Given the description of an element on the screen output the (x, y) to click on. 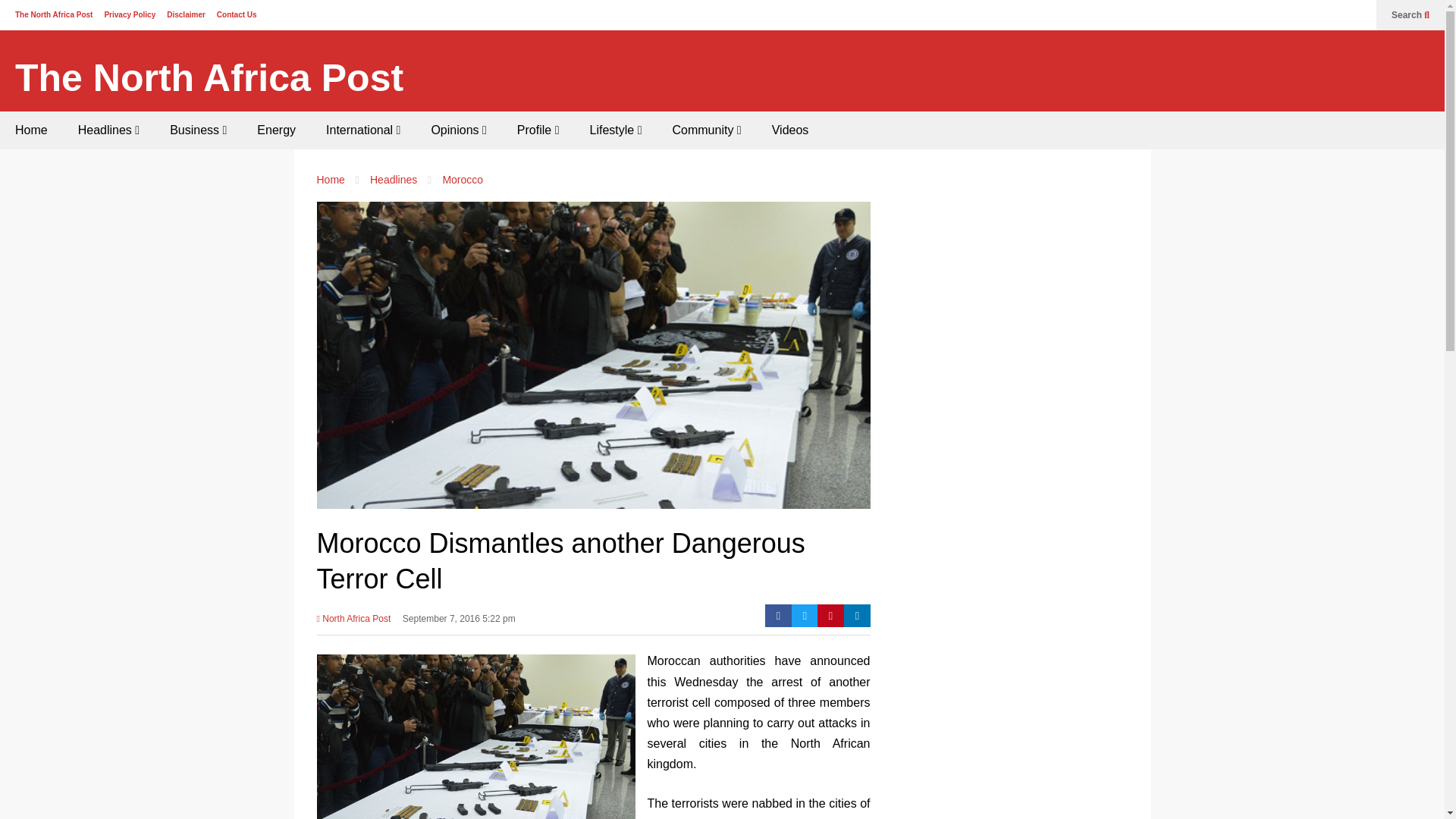
Home (31, 130)
The North Africa Post (208, 78)
Opinions (457, 130)
The North Africa Post (208, 78)
Twitter (805, 615)
Community (705, 130)
Videos (790, 130)
Profile (538, 130)
Facebook (778, 615)
Contact Us (236, 14)
The North Africa Post (53, 14)
Linkedin (857, 615)
Privacy Policy (129, 14)
Energy (276, 130)
